Given the description of an element on the screen output the (x, y) to click on. 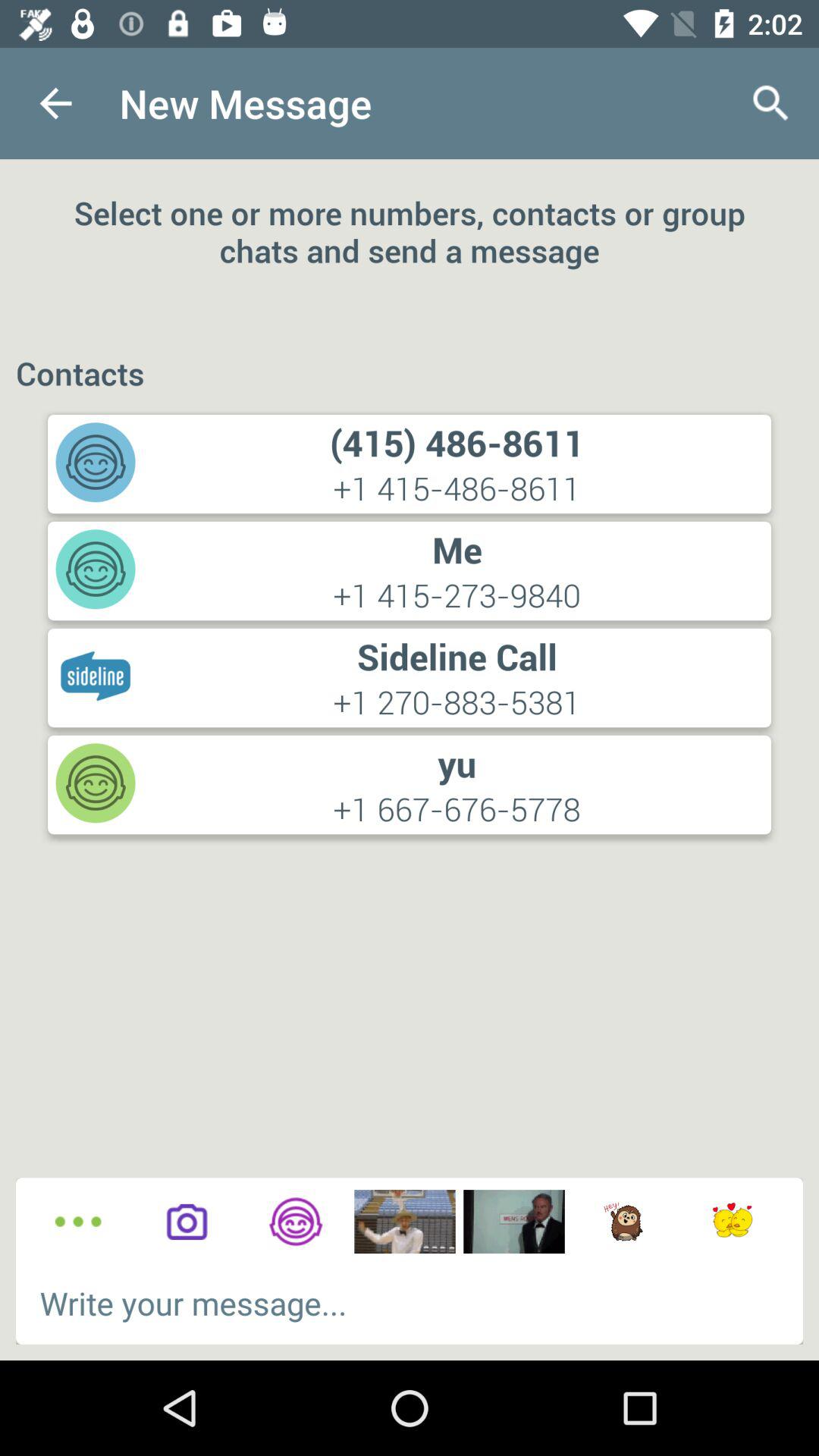
adds gifs or pictures by pressing on them in chats (622, 1221)
